Given the description of an element on the screen output the (x, y) to click on. 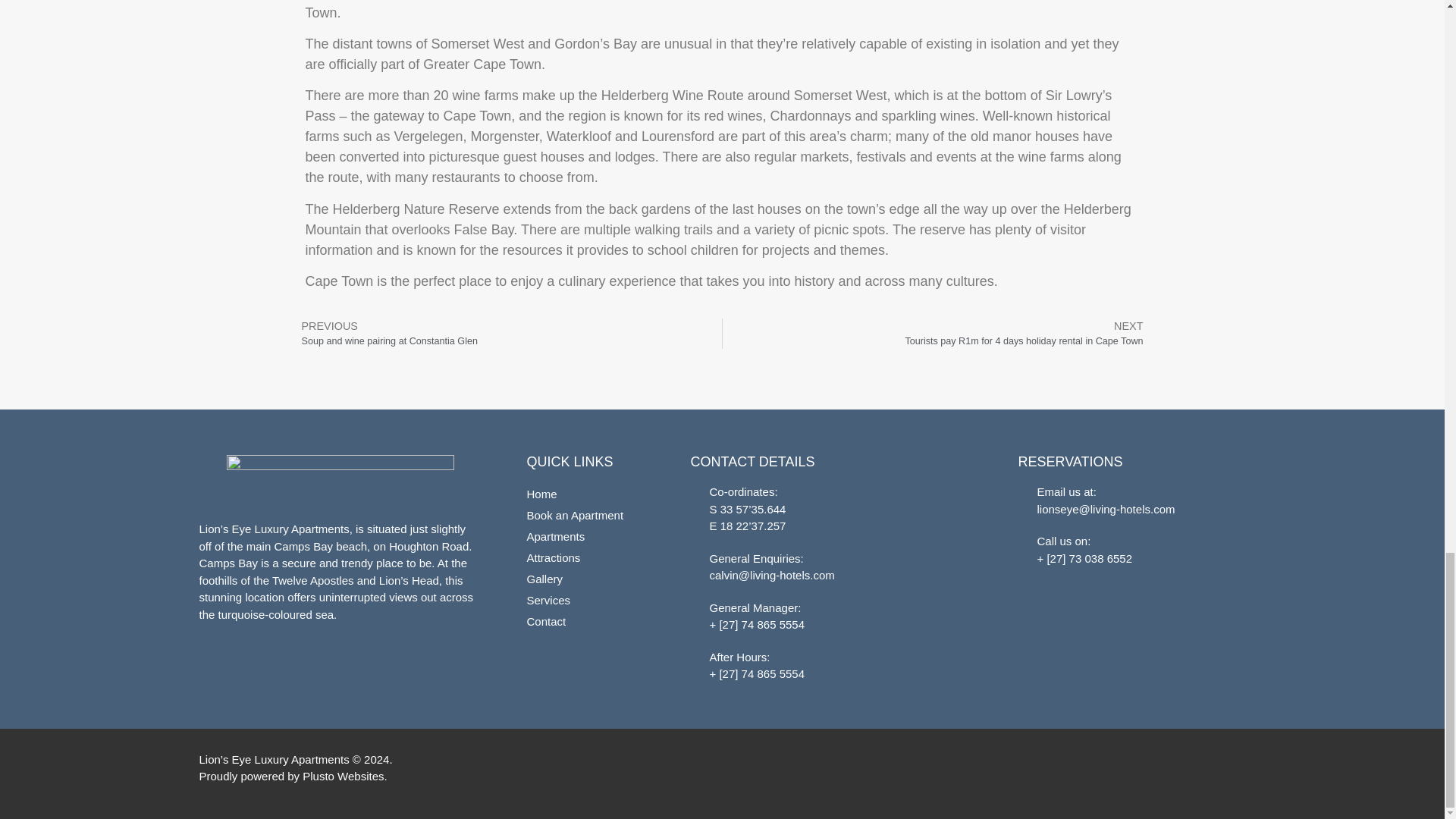
Home (585, 494)
Attractions (585, 557)
Gallery (938, 333)
Contact (585, 578)
Services (505, 333)
Apartments (585, 621)
Book an Apartment (585, 599)
